Given the description of an element on the screen output the (x, y) to click on. 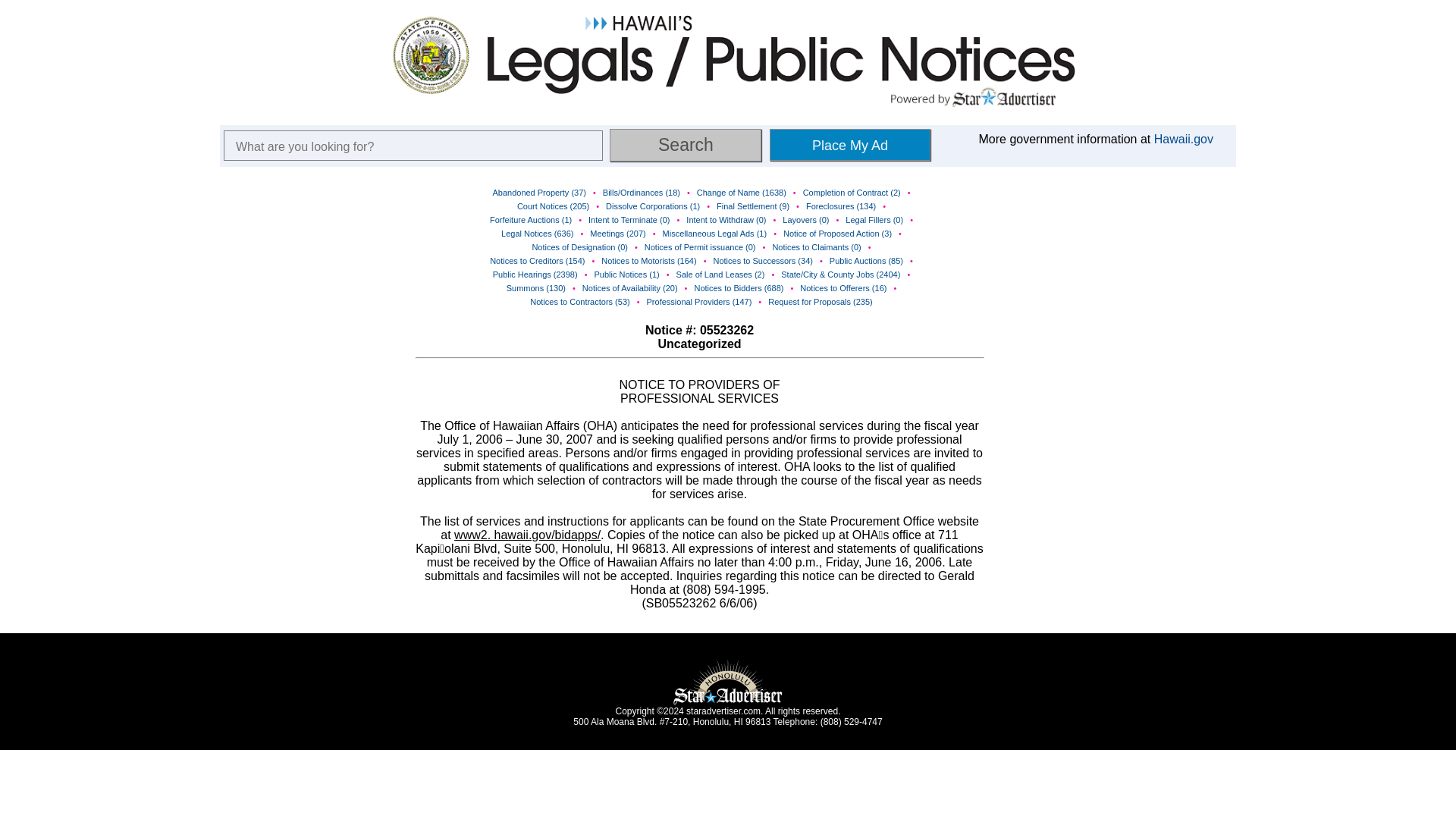
Search (685, 144)
Search (685, 144)
Search for: (413, 145)
Hawaii.gov (1183, 138)
Place My Ad (850, 144)
